Given the description of an element on the screen output the (x, y) to click on. 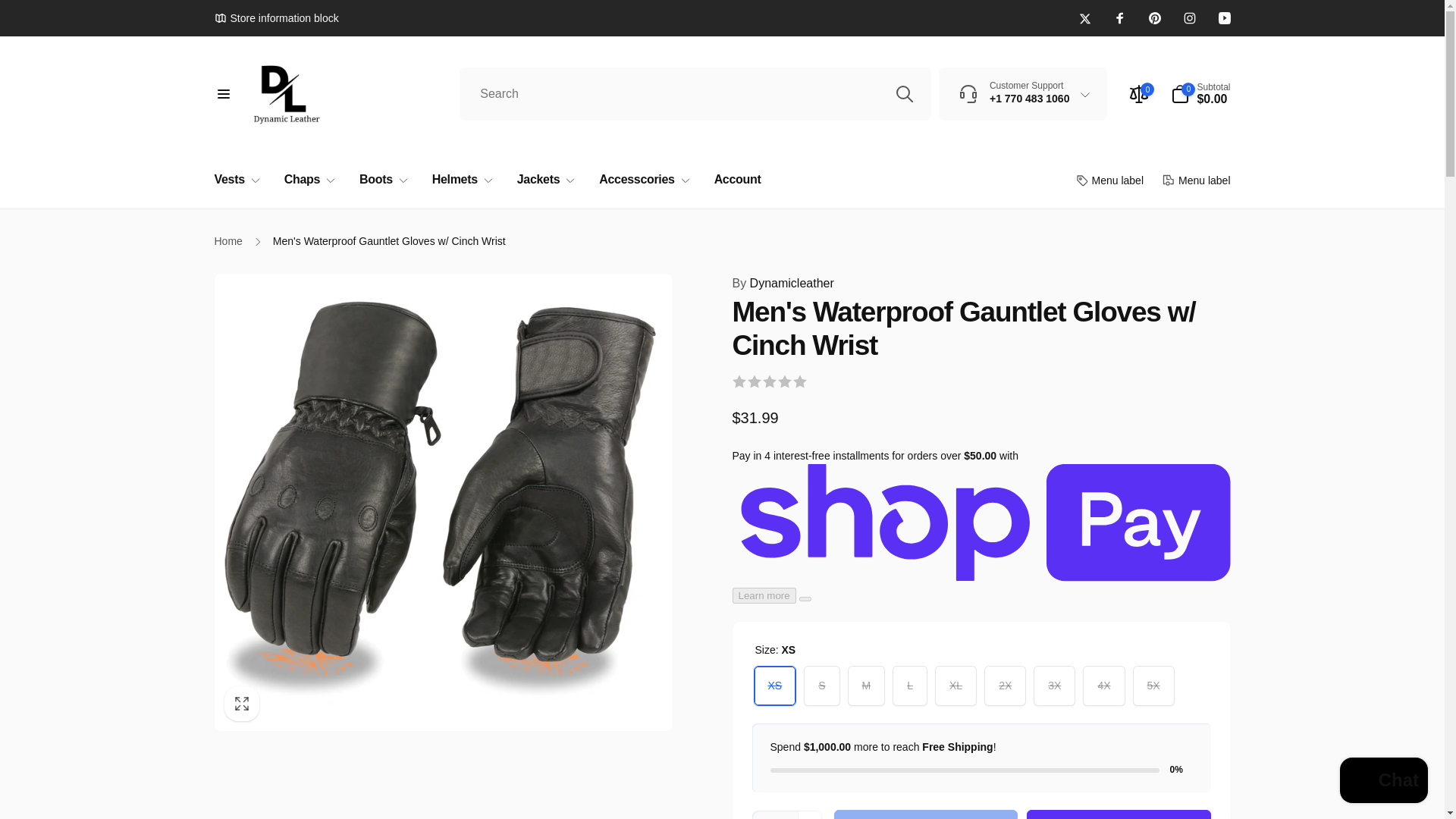
Instagram (1188, 18)
YouTube (1223, 18)
Facebook (1119, 18)
Pinterest (1154, 18)
Twitter (1084, 18)
